Given the description of an element on the screen output the (x, y) to click on. 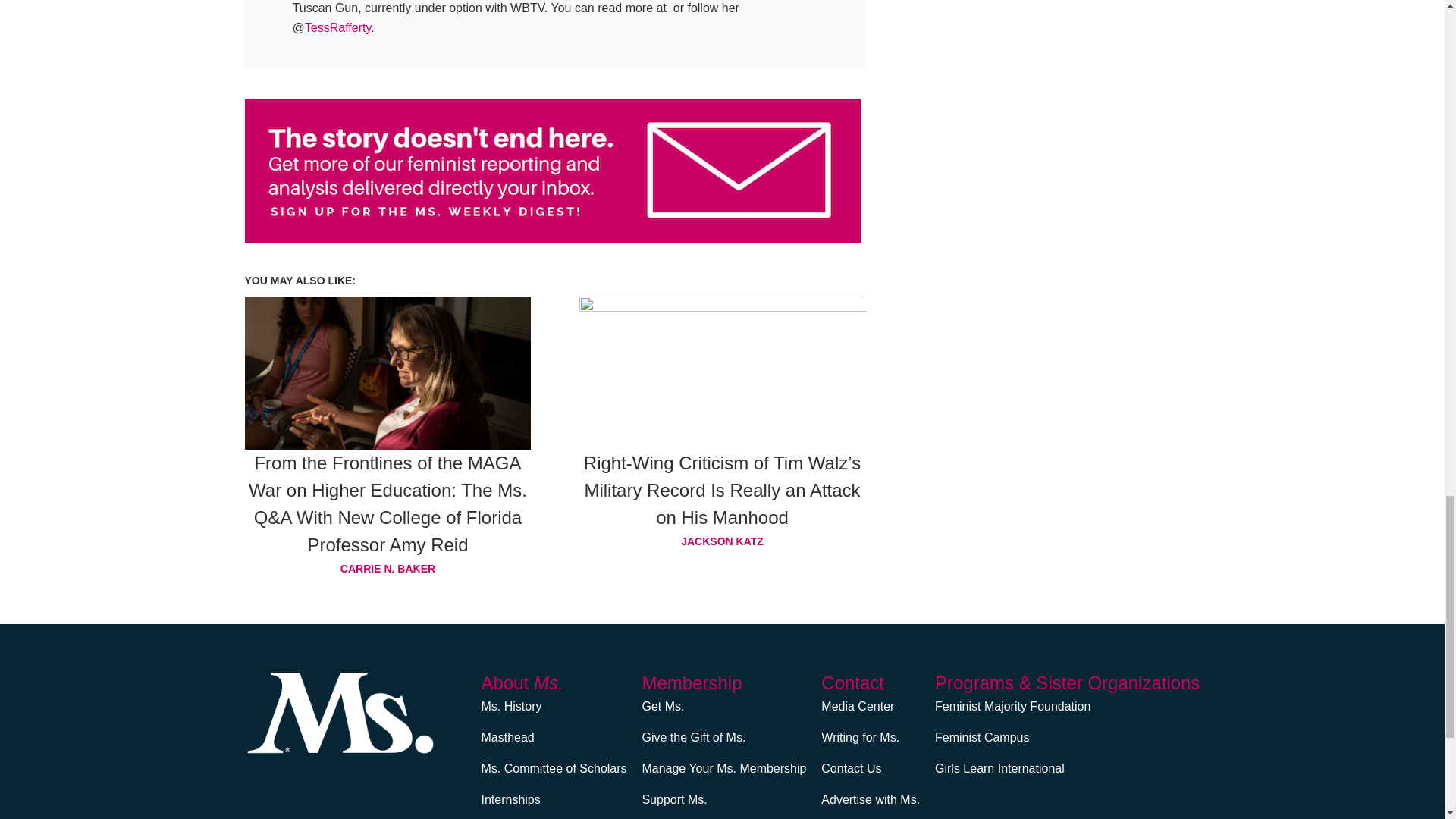
Posts by Jackson Katz (722, 541)
TessRafferty (337, 27)
Posts by Carrie N. Baker (387, 568)
